Given the description of an element on the screen output the (x, y) to click on. 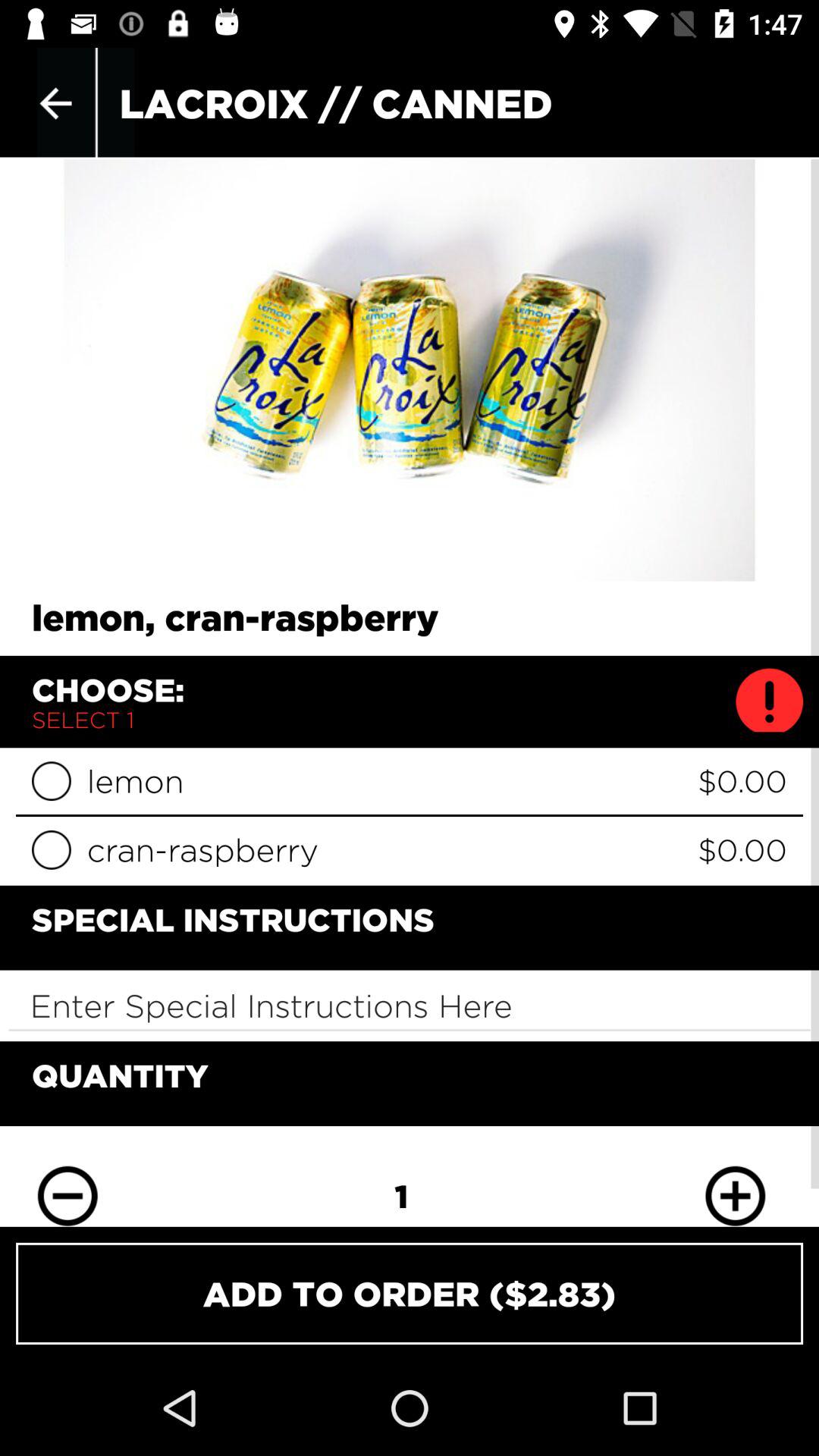
enter instructions (409, 1005)
